Given the description of an element on the screen output the (x, y) to click on. 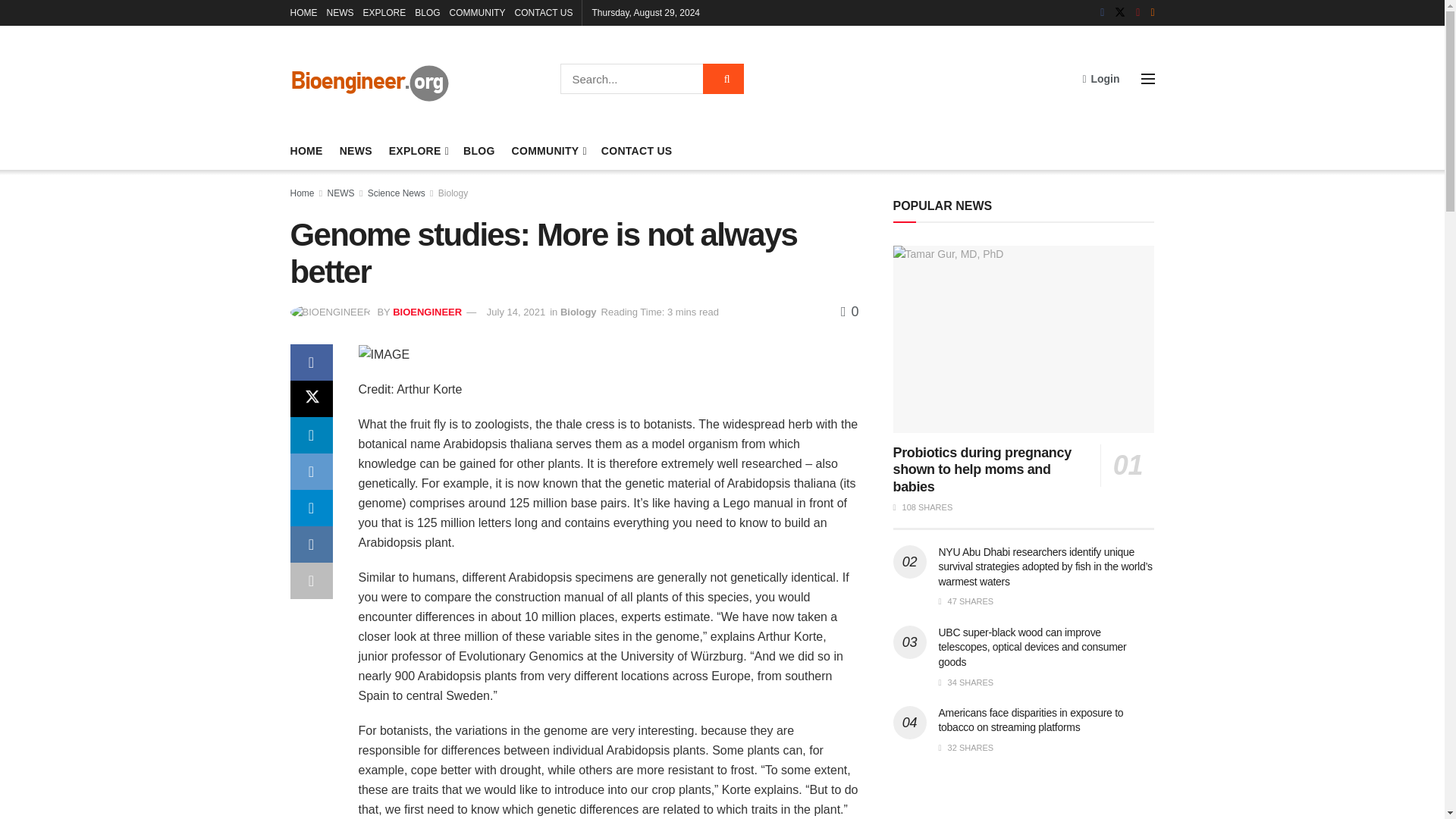
HOME (305, 150)
NEWS (355, 150)
BLOG (426, 12)
HOME (303, 12)
CONTACT US (544, 12)
COMMUNITY (477, 12)
NEWS (339, 12)
EXPLORE (384, 12)
Login (1100, 78)
EXPLORE (417, 150)
